Given the description of an element on the screen output the (x, y) to click on. 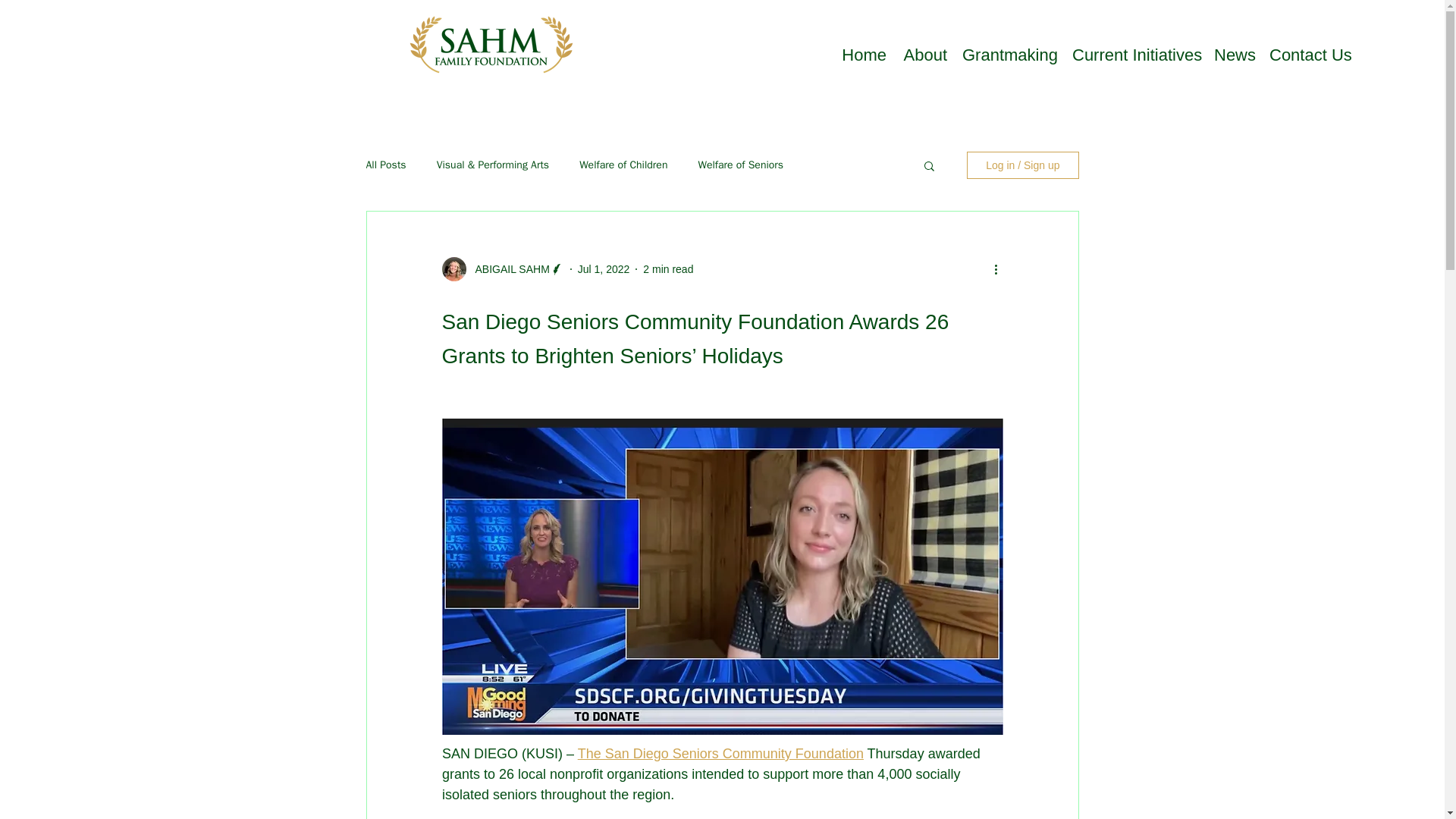
News (1234, 51)
2 min read (668, 268)
Jul 1, 2022 (604, 268)
Contact Us (1309, 51)
Home (862, 51)
The San Diego Seniors Community Foundation (719, 753)
Grantmaking (1009, 51)
Current Initiatives (1135, 51)
ABIGAIL SAHM (506, 268)
Welfare of Seniors (740, 164)
